Given the description of an element on the screen output the (x, y) to click on. 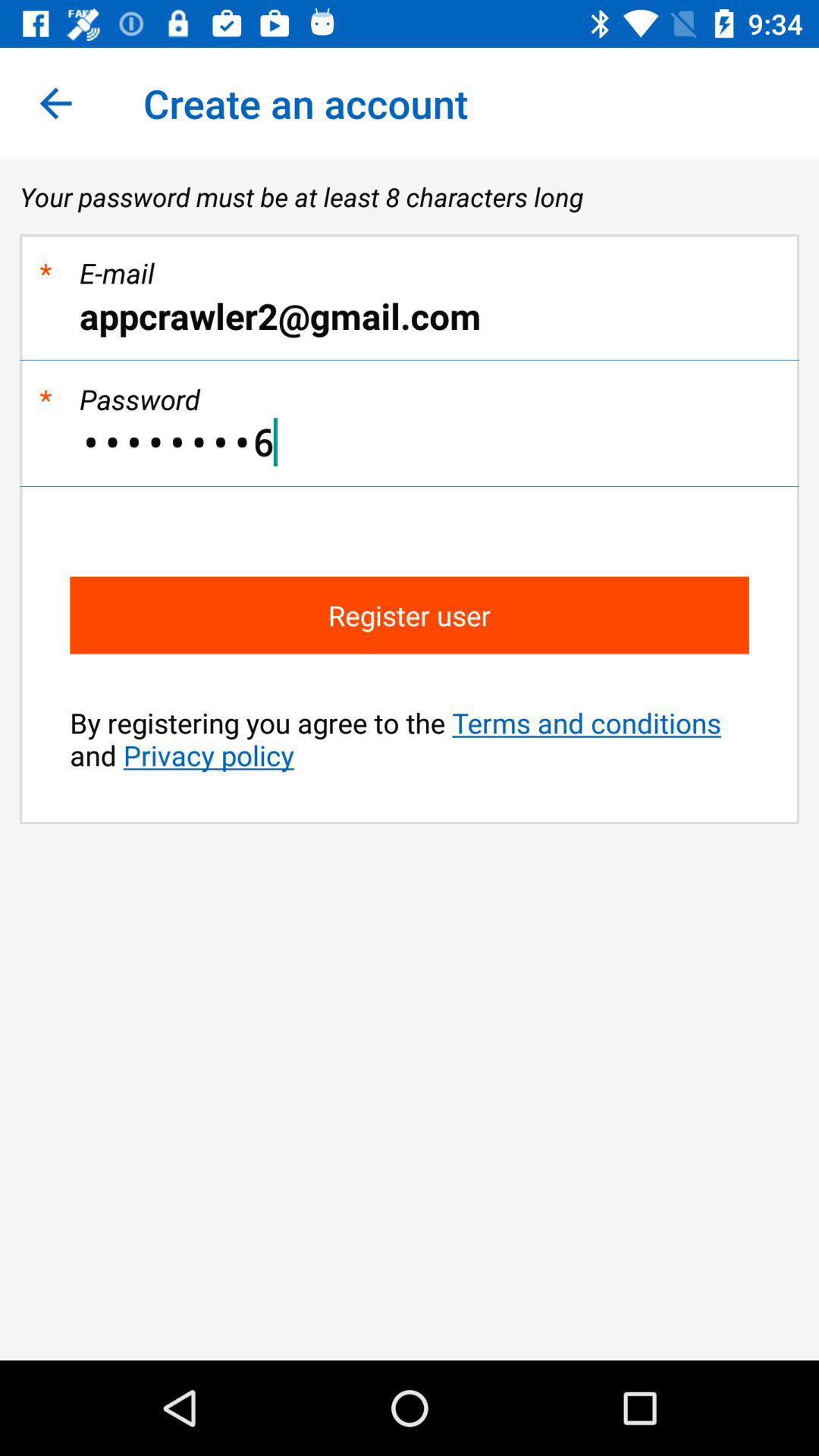
select item next to the create an account app (55, 103)
